Given the description of an element on the screen output the (x, y) to click on. 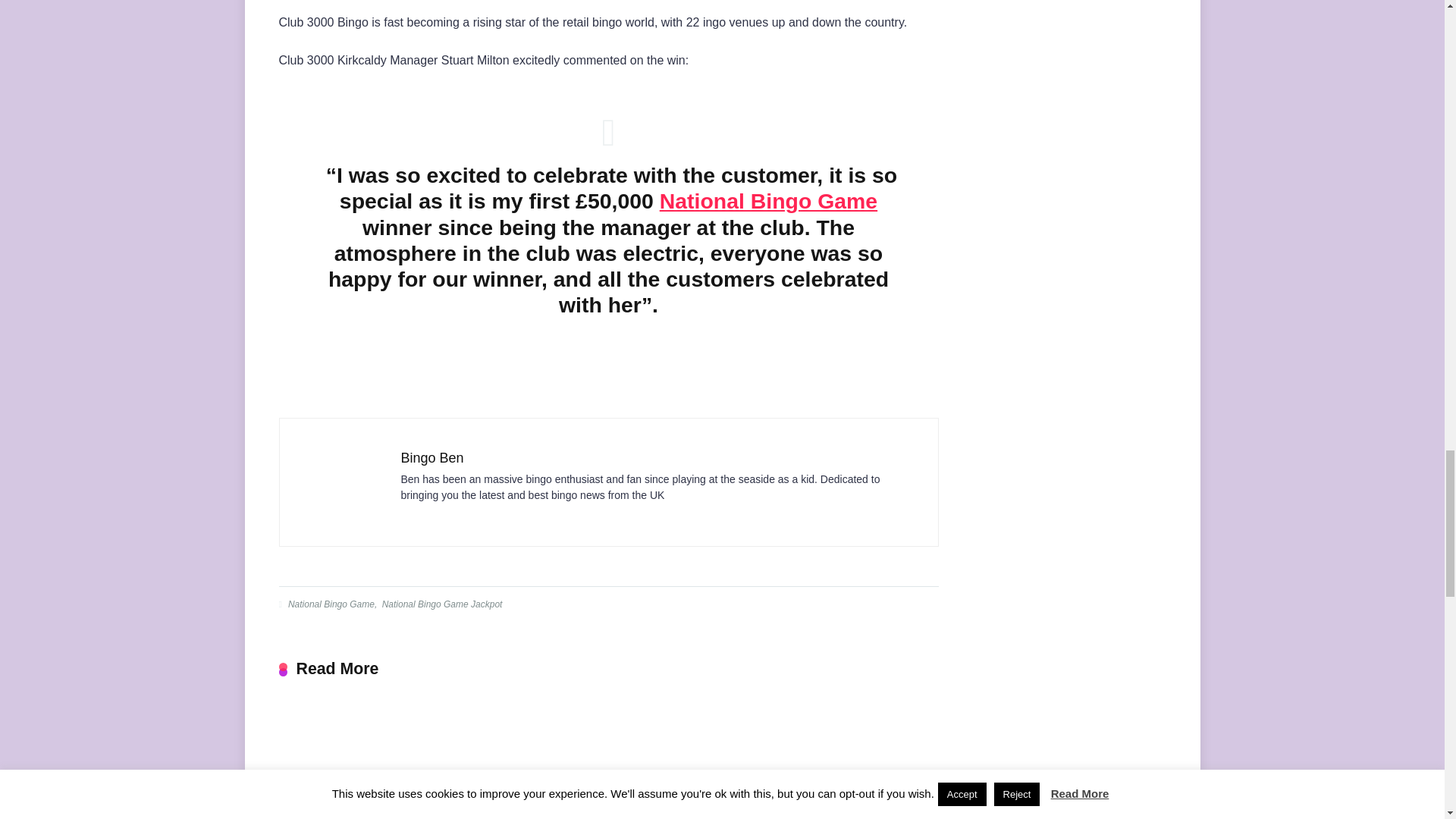
Mecca Bingo Hanley Closes Today (835, 761)
Leo Leisure Weymouth Celebrates Jackpot Win (607, 761)
Bingo Ben (431, 458)
National Bingo Game (768, 200)
National Bingo Game Jackpot (441, 603)
National Bingo Game (329, 603)
